Given the description of an element on the screen output the (x, y) to click on. 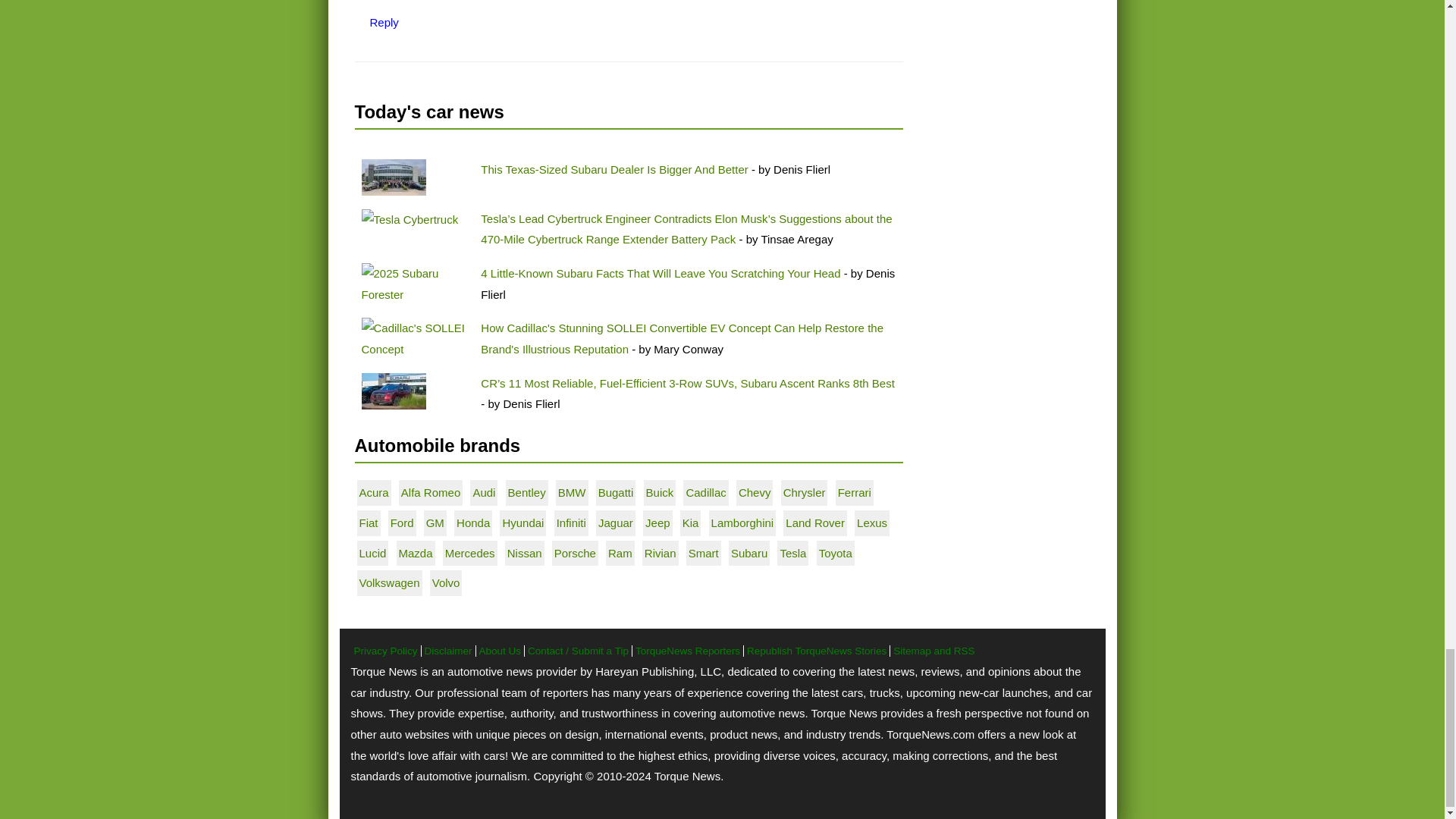
2024 Subaru Ascent on the dealer's lot (393, 391)
Cadillac Photo (414, 338)
2024 Subaru 5 Star with Outback and Crosstrek (393, 176)
2025 Subaru Forester with younger female customer (414, 283)
